Given the description of an element on the screen output the (x, y) to click on. 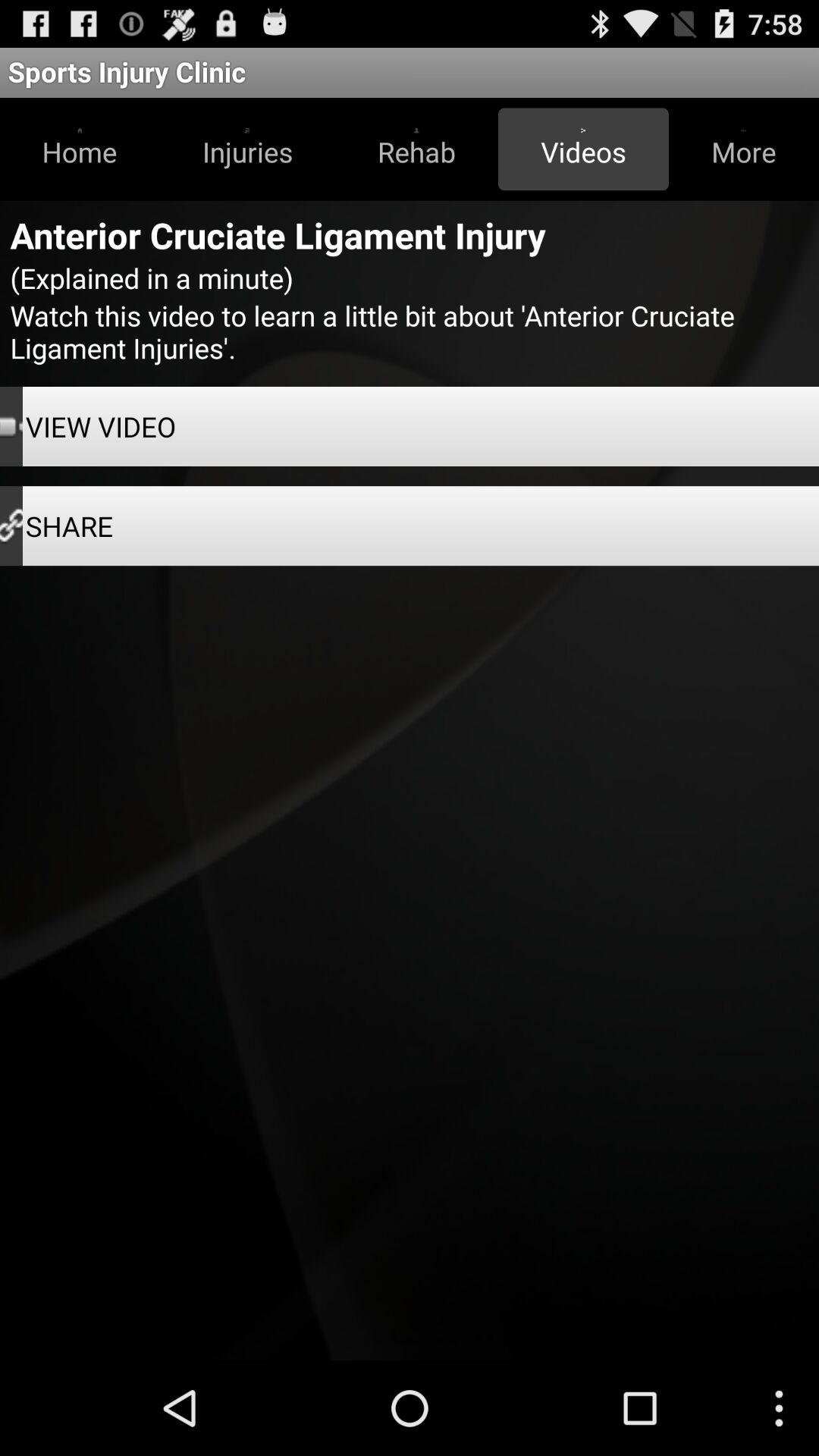
launch button to the left of the more (583, 149)
